Given the description of an element on the screen output the (x, y) to click on. 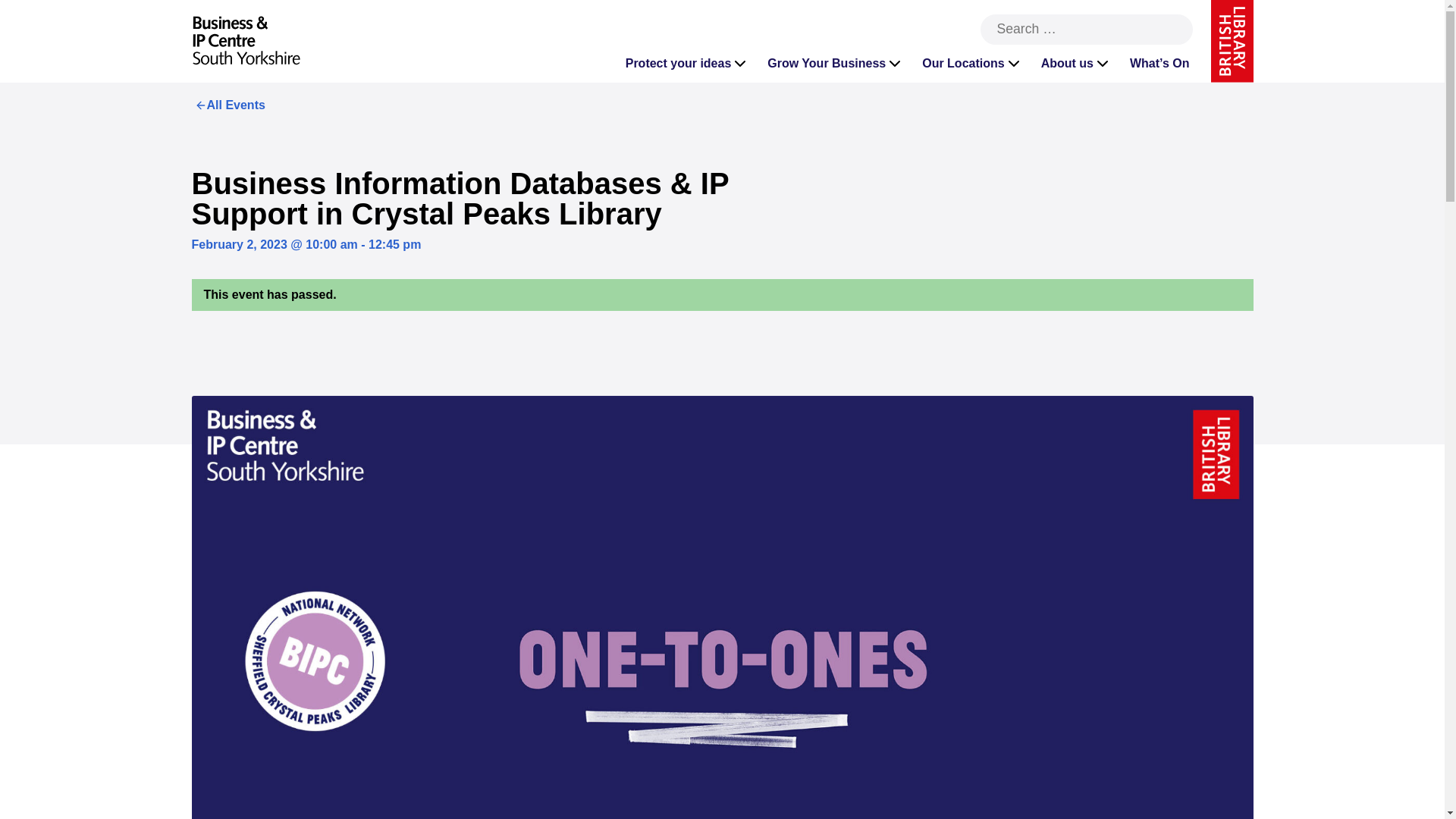
About us (1076, 63)
Our Locations (971, 63)
All Events (227, 105)
Grow Your Business (835, 63)
Protect your ideas (686, 63)
